Given the description of an element on the screen output the (x, y) to click on. 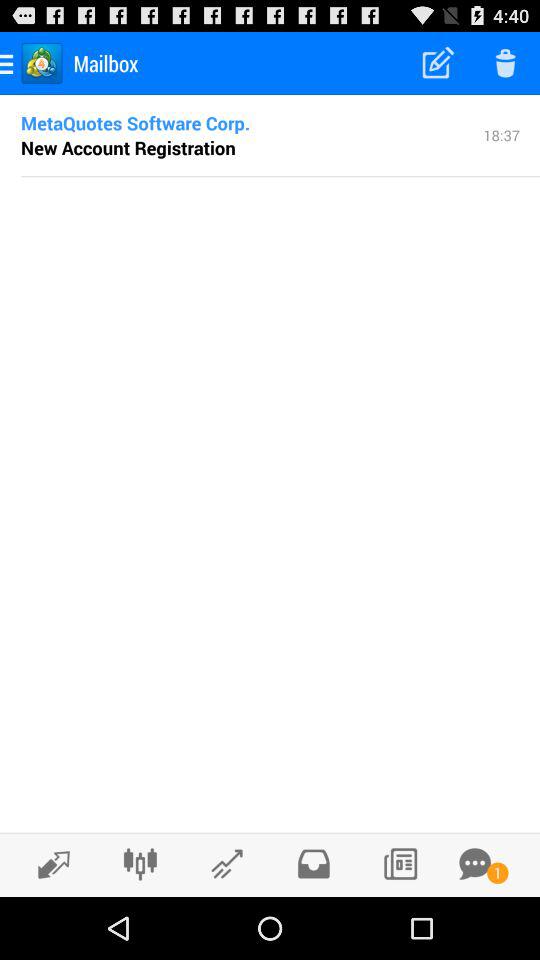
press the icon to the left of the 18:37 item (135, 122)
